Given the description of an element on the screen output the (x, y) to click on. 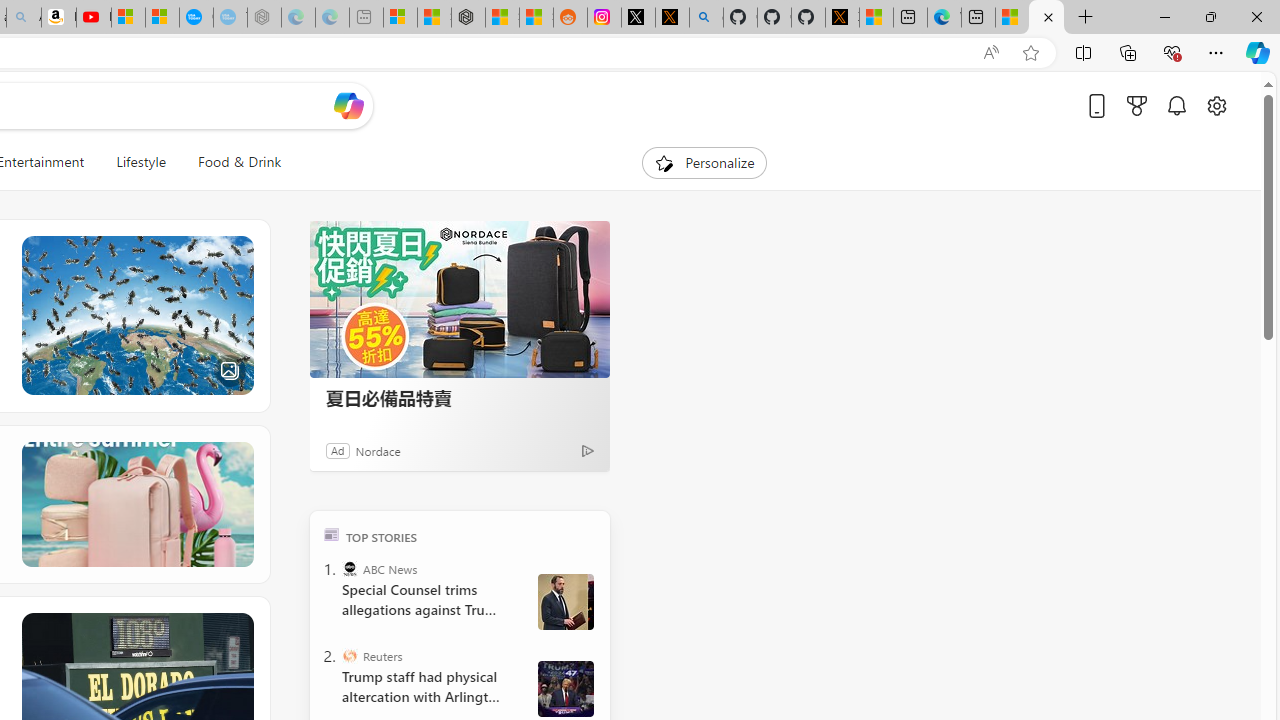
Lifestyle (140, 162)
The most popular Google 'how to' searches - Sleeping (230, 17)
